Given the description of an element on the screen output the (x, y) to click on. 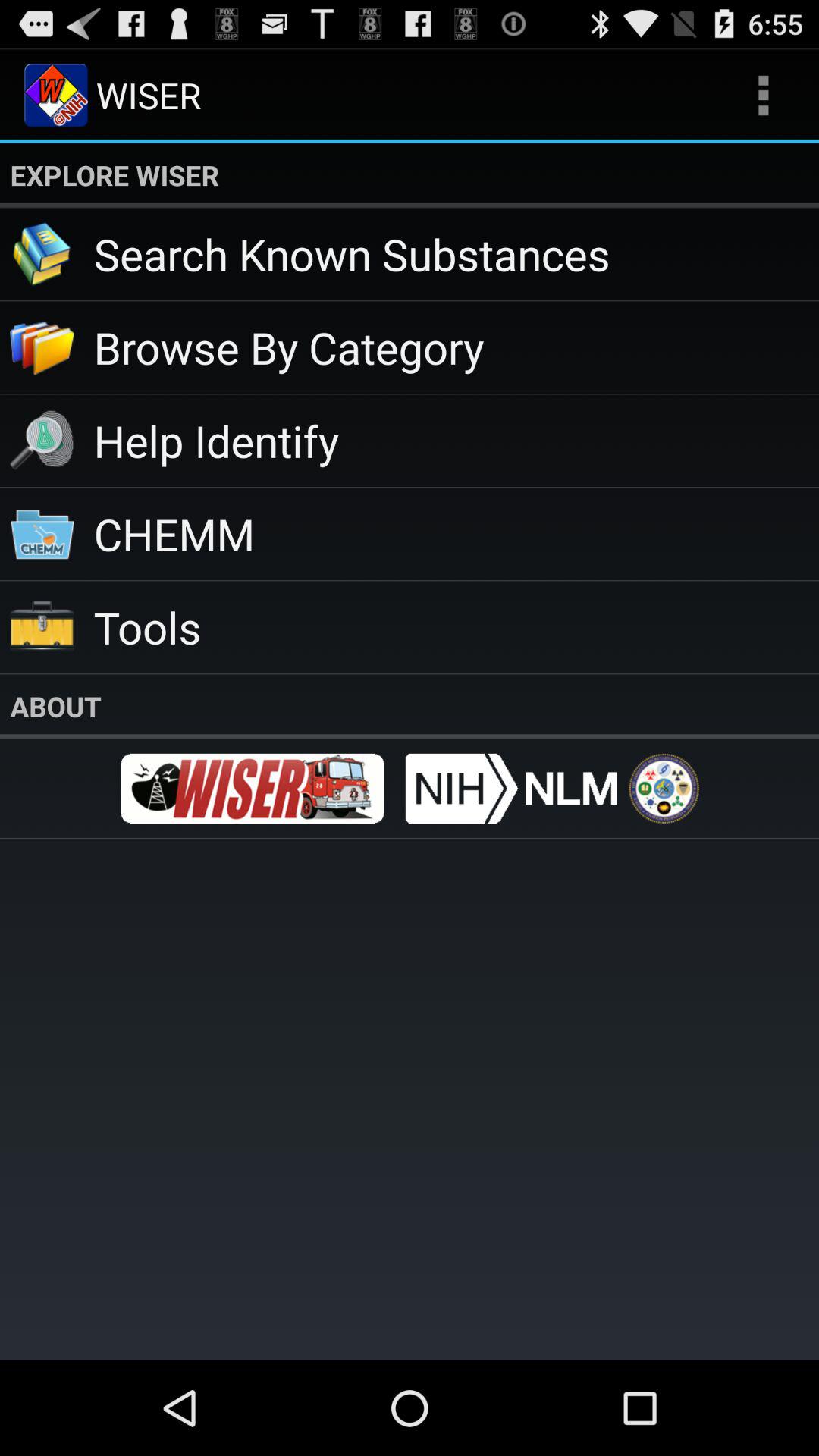
press the item next to wiser app (763, 95)
